Given the description of an element on the screen output the (x, y) to click on. 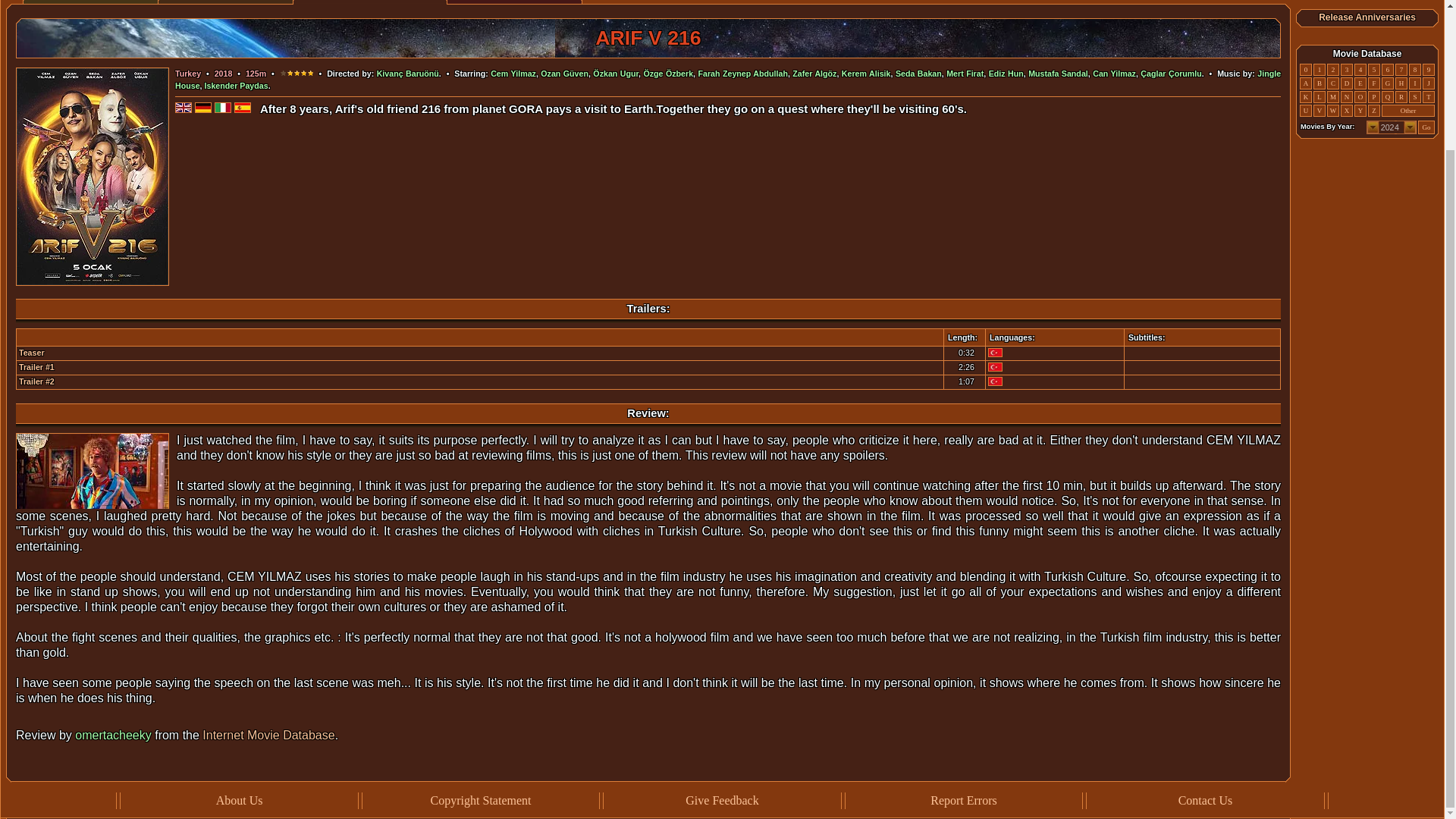
Release Anniversaries (1367, 17)
Turkish (995, 366)
Teaser (31, 352)
Internet Movie Database (268, 735)
Turkish (995, 352)
Turkish (995, 380)
